Given the description of an element on the screen output the (x, y) to click on. 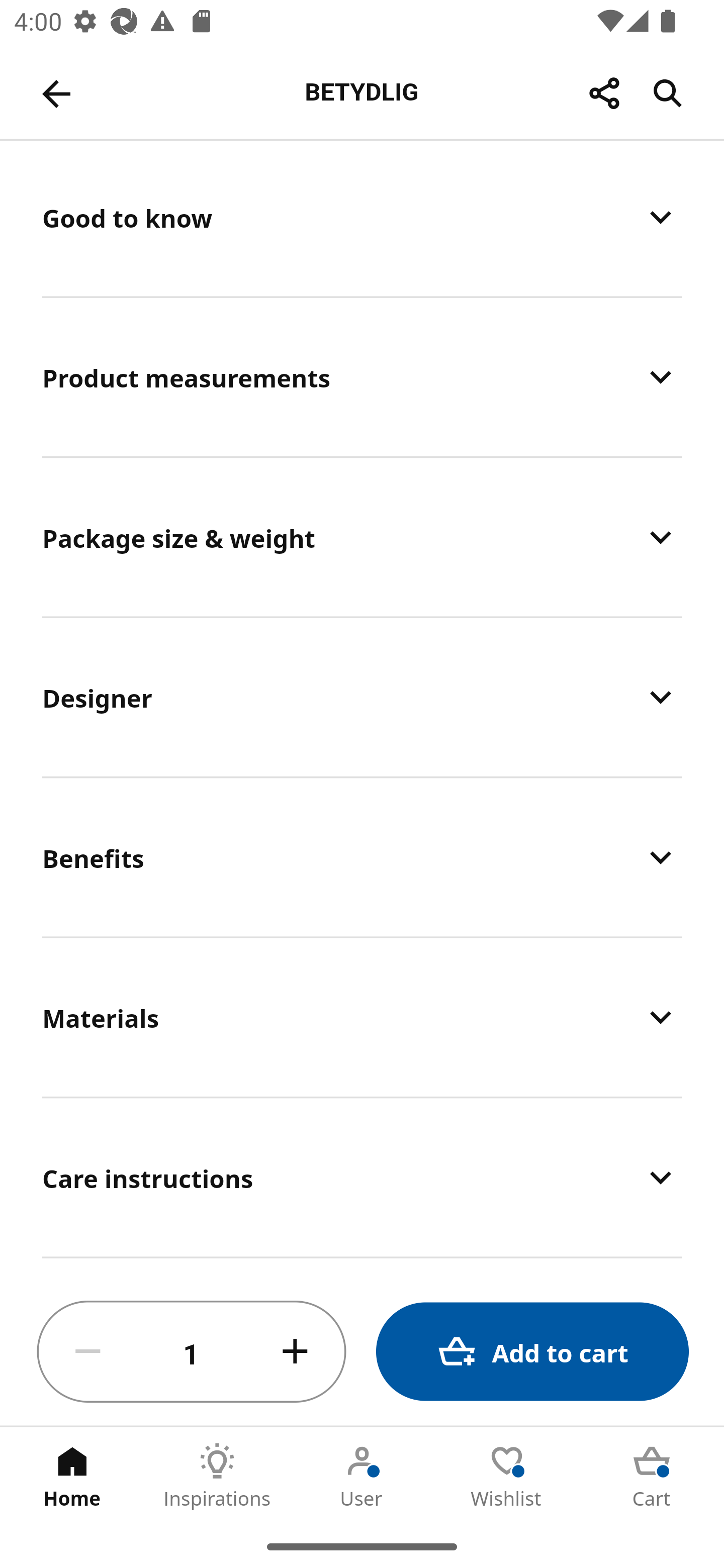
Good to know (361, 217)
Product measurements (361, 376)
Package size & weight (361, 536)
Designer (361, 696)
Benefits (361, 856)
Materials (361, 1016)
Care instructions (361, 1177)
Add to cart (531, 1352)
1 (191, 1352)
Home
Tab 1 of 5 (72, 1476)
Inspirations
Tab 2 of 5 (216, 1476)
User
Tab 3 of 5 (361, 1476)
Wishlist
Tab 4 of 5 (506, 1476)
Cart
Tab 5 of 5 (651, 1476)
